Given the description of an element on the screen output the (x, y) to click on. 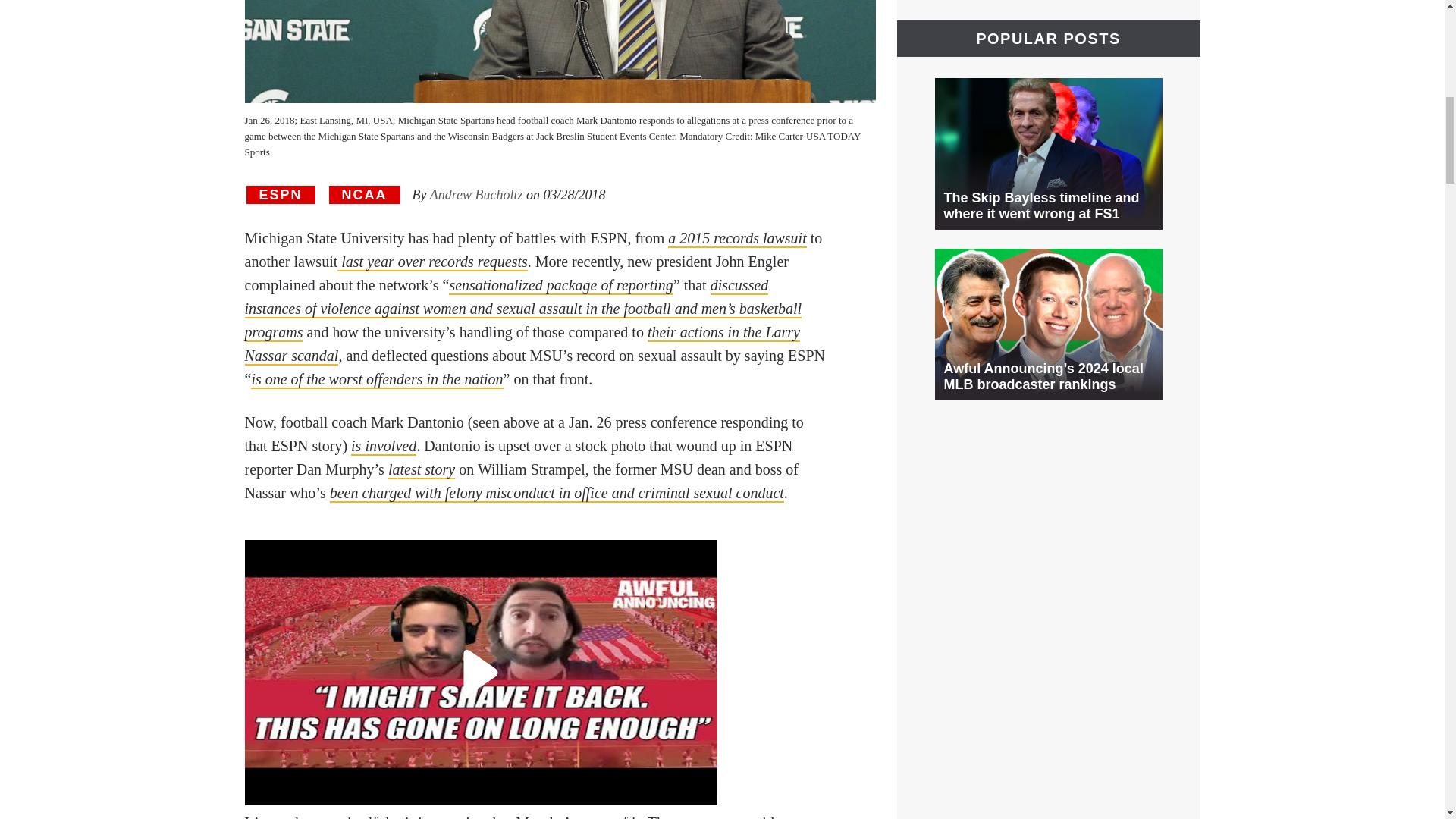
View all posts in NCAA (364, 194)
View all posts in ESPN (280, 194)
